Given the description of an element on the screen output the (x, y) to click on. 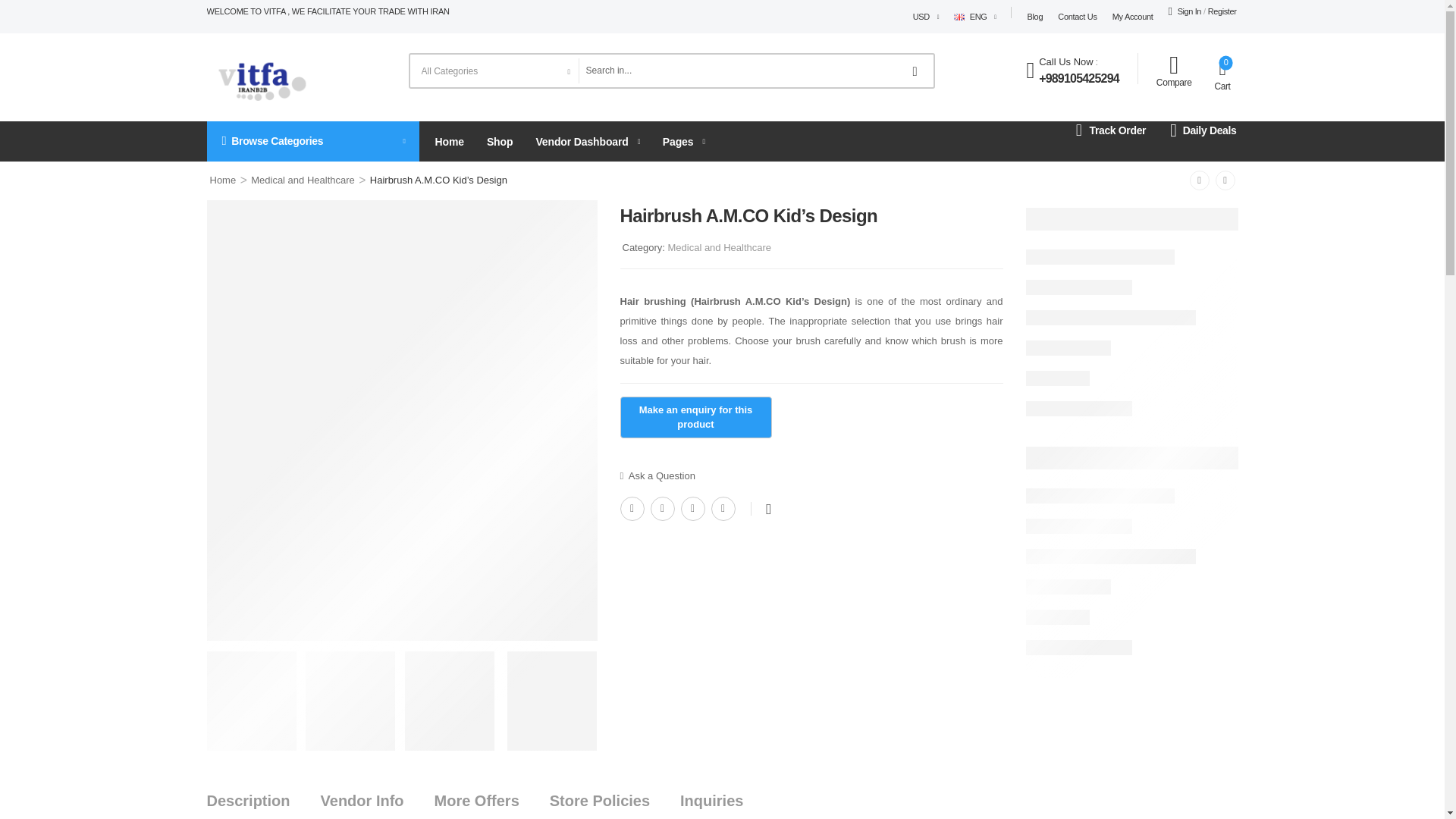
Twitter (662, 508)
Sign In (1185, 11)
VITFA - VITFA B2B Marketplace (260, 76)
Compare (1174, 71)
Pinterest (692, 508)
Make an enquiry for this product (695, 417)
Browse Categories (312, 141)
Instagram (723, 508)
Contact Us (1077, 16)
ENG (970, 15)
